Given the description of an element on the screen output the (x, y) to click on. 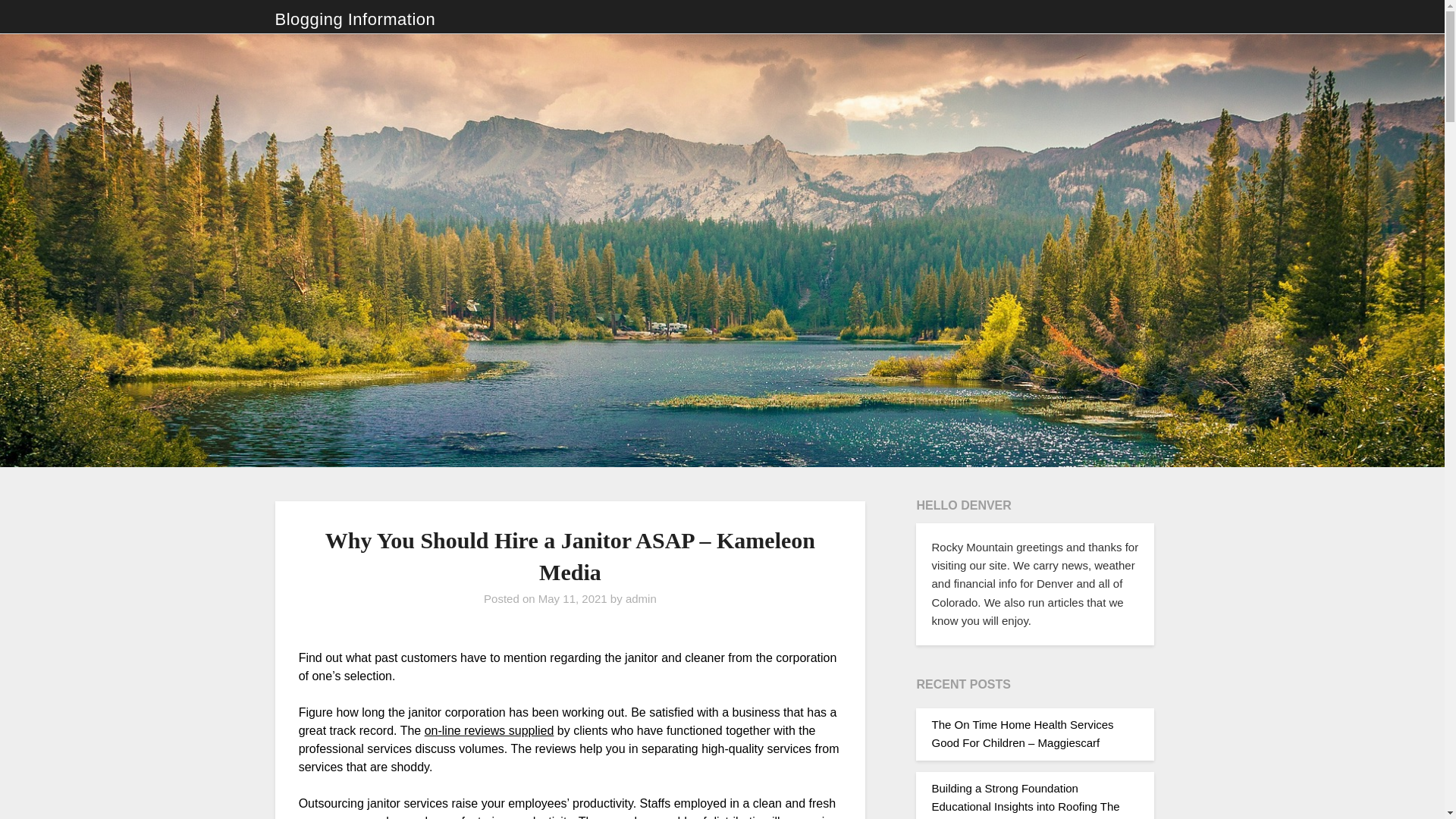
Blogging Information (355, 19)
on-line reviews supplied (489, 730)
May 11, 2021 (572, 598)
admin (641, 598)
